Given the description of an element on the screen output the (x, y) to click on. 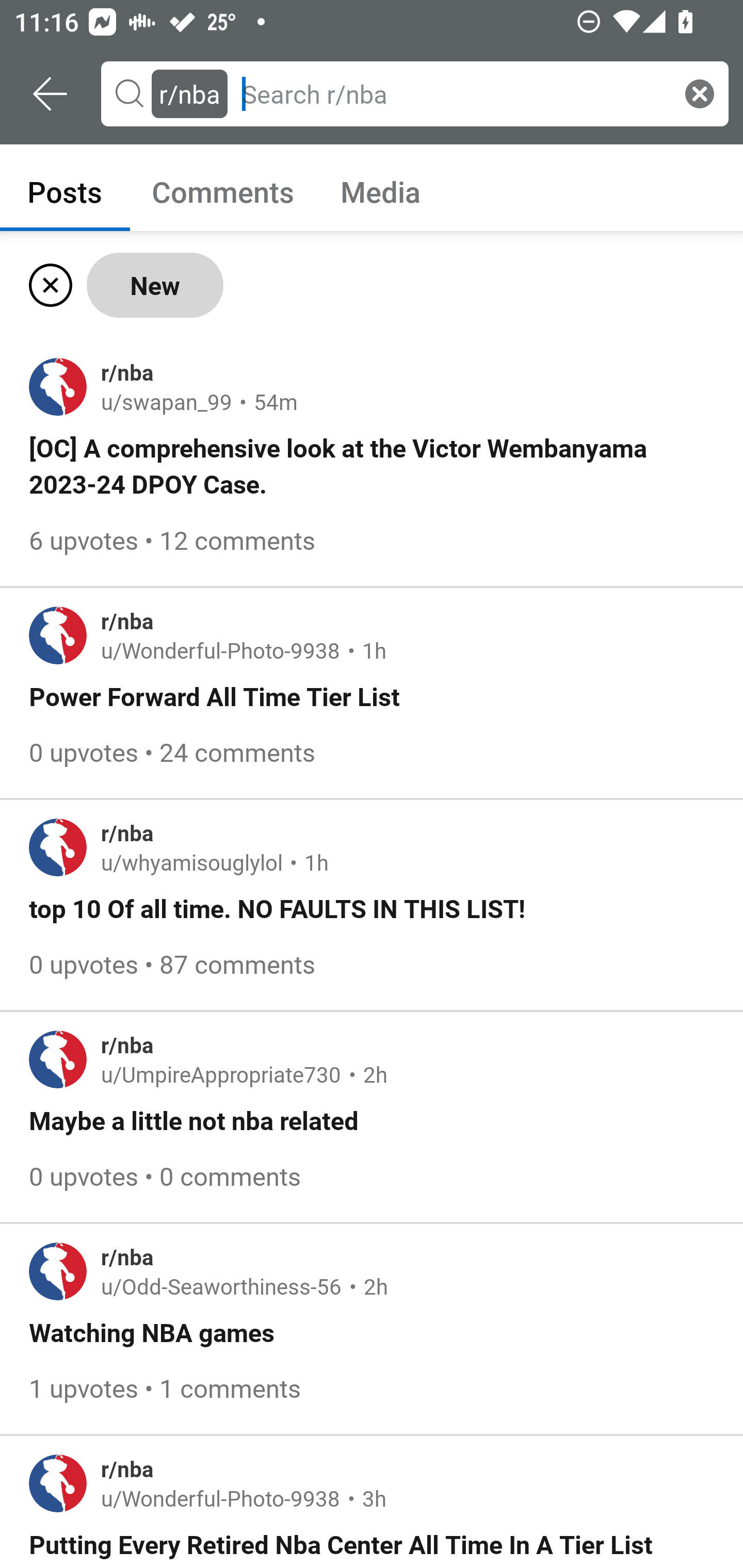
Back (50, 93)
Search r/nba (452, 93)
Clear search (699, 93)
r/nba (189, 92)
Comments (222, 191)
Media (380, 191)
Clear active filters (46, 285)
New Sort by New (154, 285)
